Given the description of an element on the screen output the (x, y) to click on. 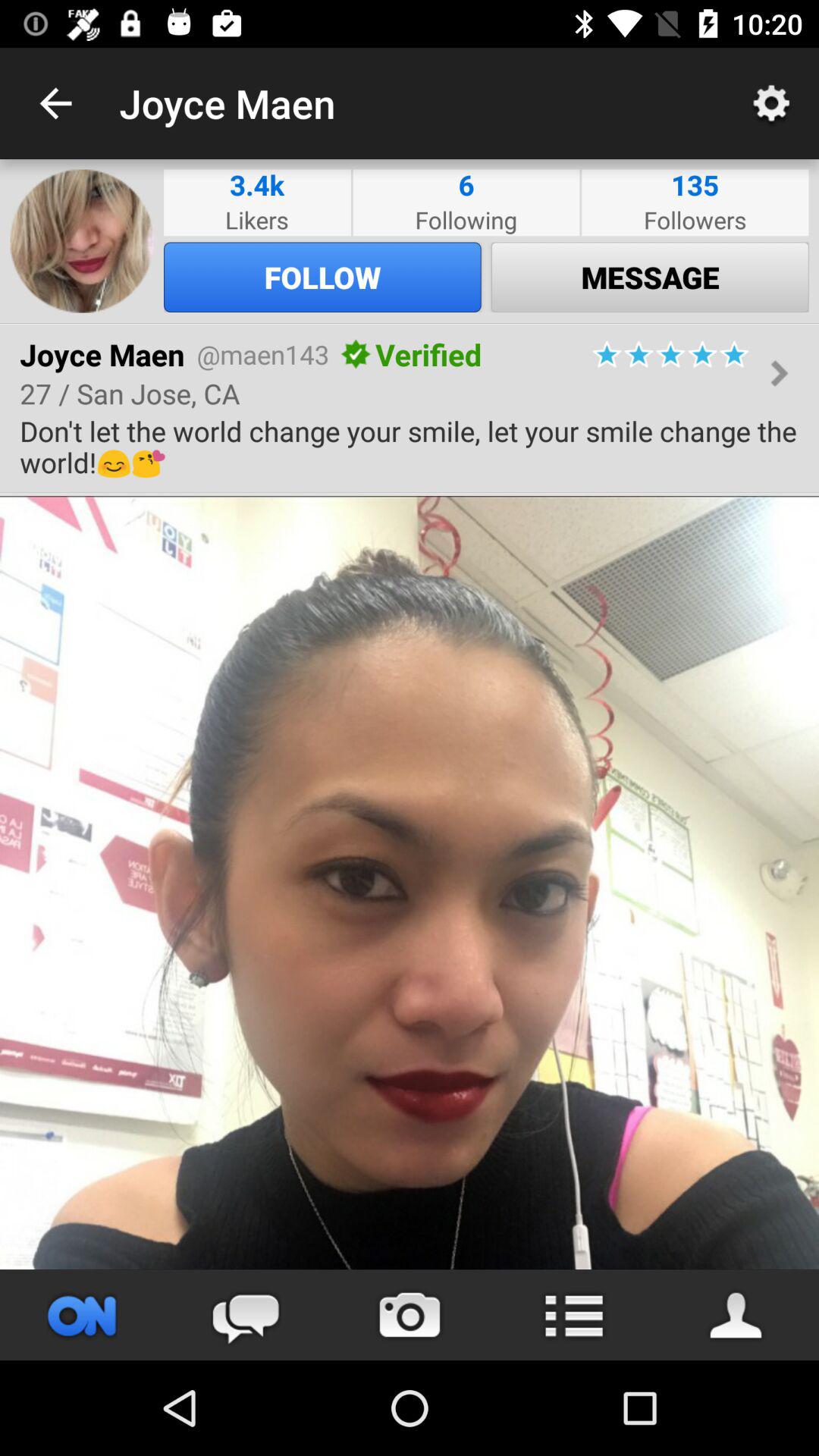
shared content (409, 882)
